Given the description of an element on the screen output the (x, y) to click on. 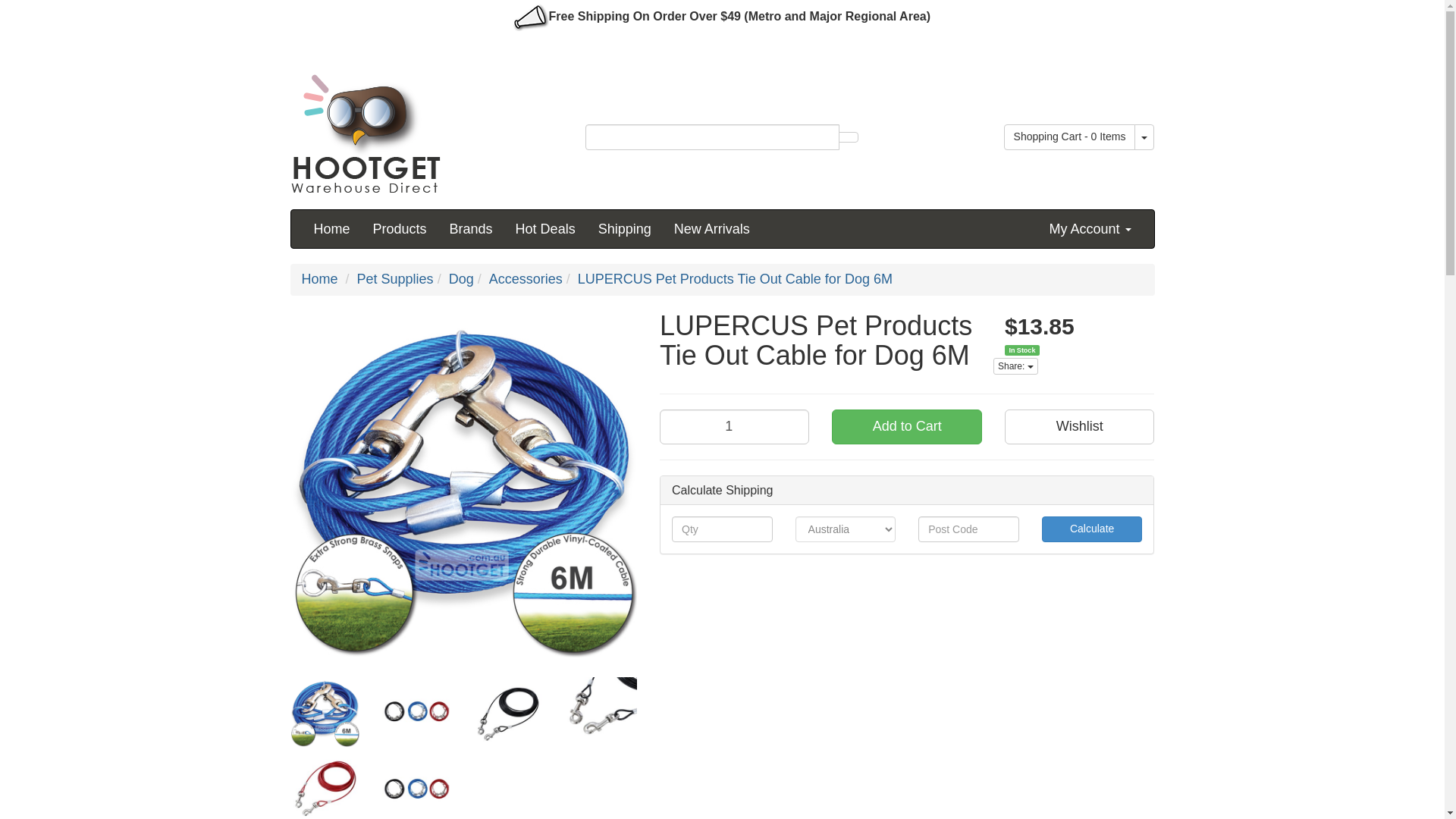
Shopping Cart - 0 Items (1069, 136)
Large View (324, 786)
Calculate (1092, 529)
Large View (509, 711)
Search (848, 136)
Add to Cart (906, 426)
HOOTGET (365, 128)
1 (734, 426)
Large View (324, 711)
Large View (416, 711)
Large View (416, 786)
Large View (602, 711)
